Given the description of an element on the screen output the (x, y) to click on. 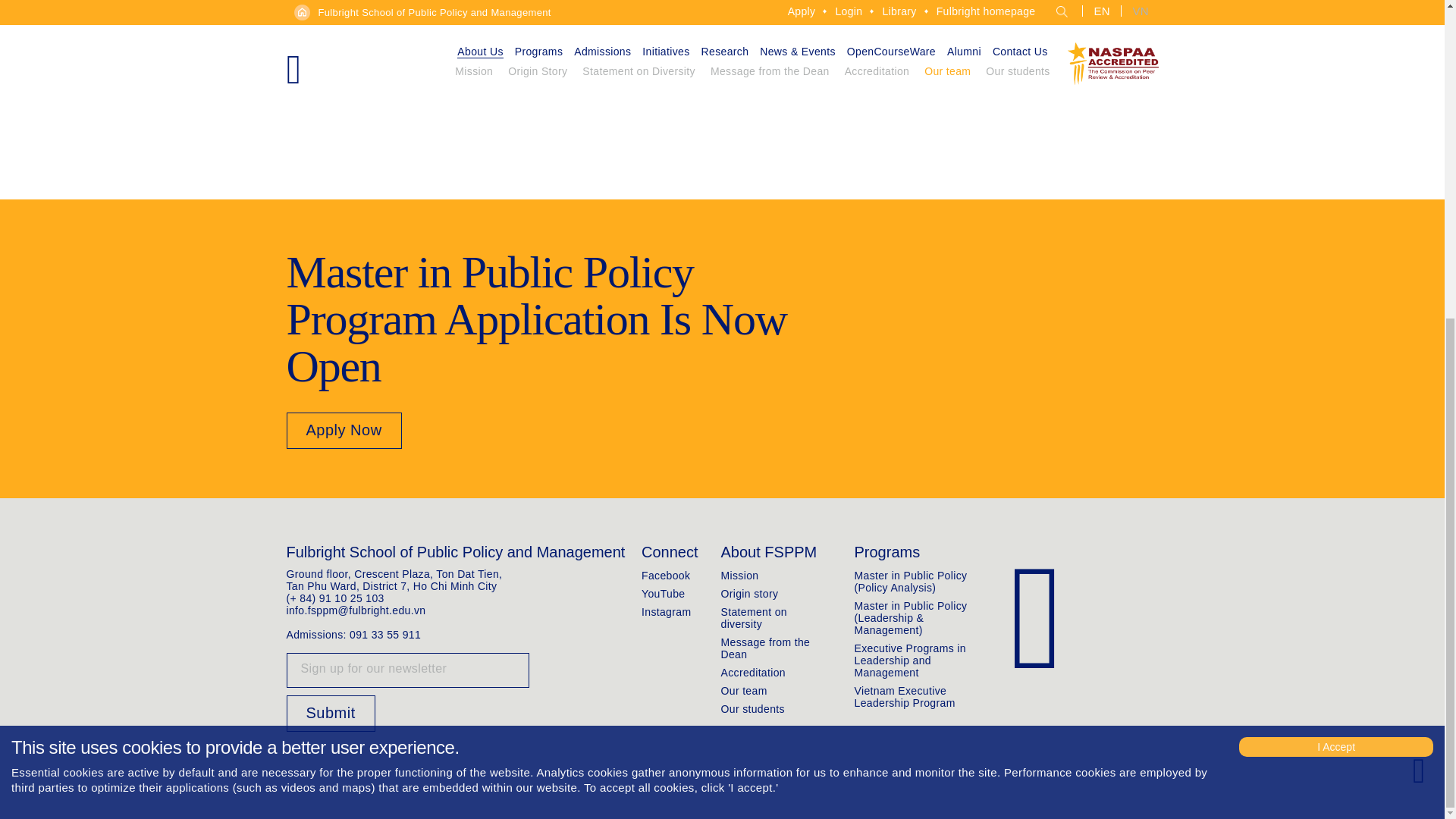
Submit (330, 713)
